Given the description of an element on the screen output the (x, y) to click on. 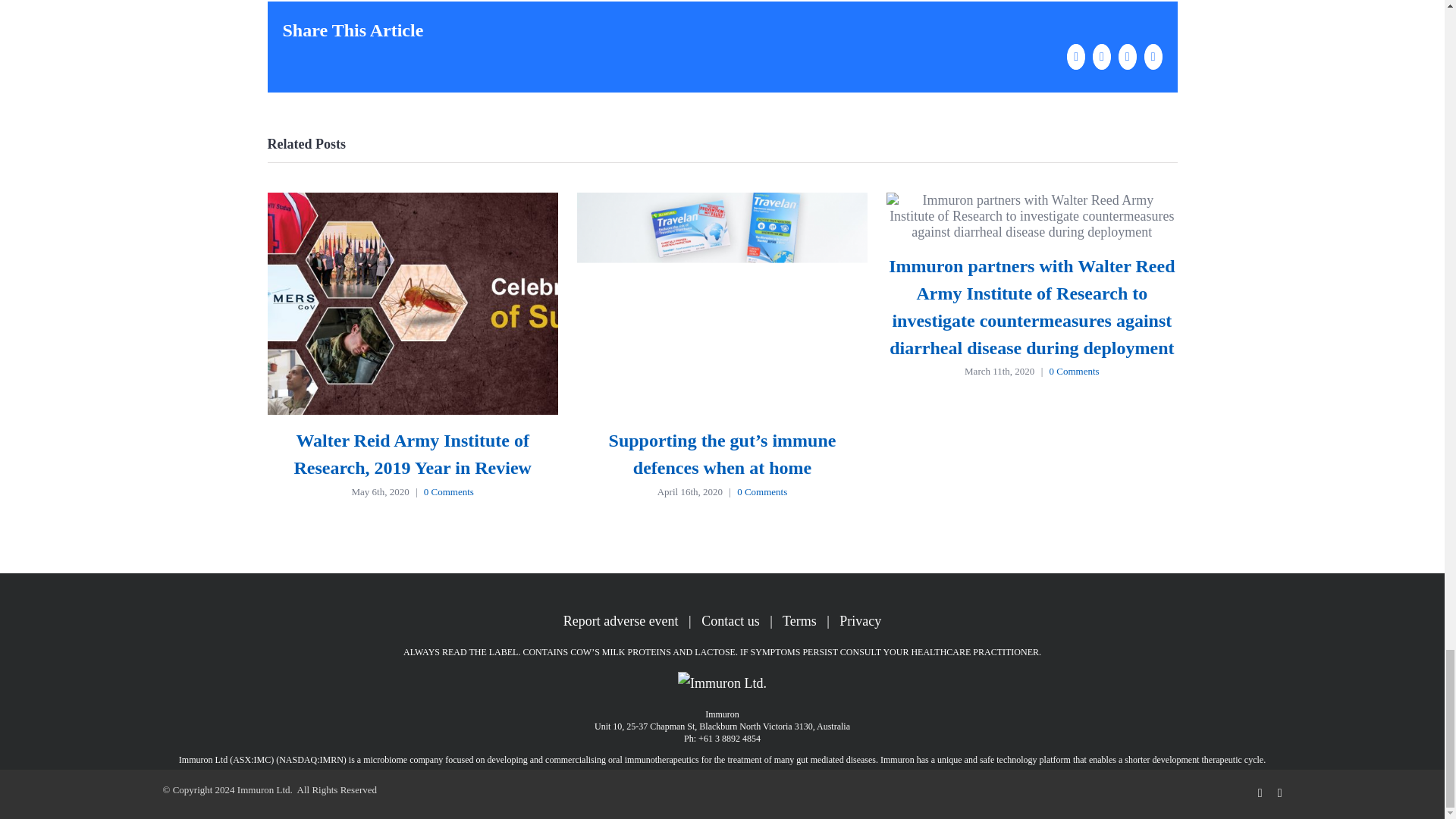
Report adverse event (620, 620)
Walter Reid Army Institute of Research, 2019 Year in Review (412, 453)
Contact us (730, 620)
0 Comments (448, 491)
Walter Reid Army Institute of Research, 2019 Year in Review (412, 453)
Privacy (860, 620)
Terms (799, 620)
0 Comments (761, 491)
